Given the description of an element on the screen output the (x, y) to click on. 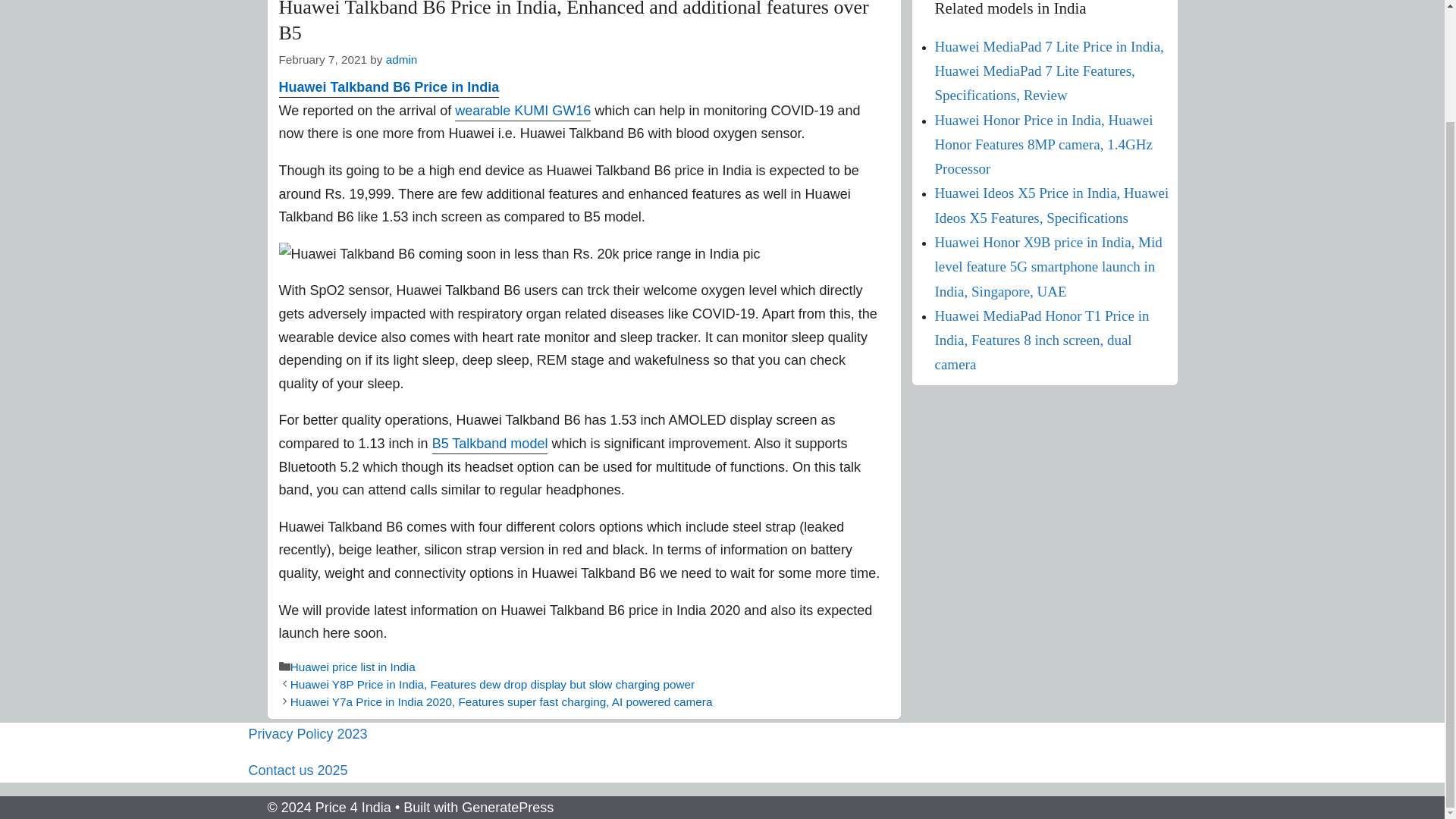
Huawei Talkband B6 Price in India (389, 88)
admin (401, 59)
View all posts by admin (401, 59)
B5 Talkband model (490, 444)
Huawei Talkband B6 with additional features image (519, 254)
Next (501, 701)
Huawei price list in India (351, 666)
